Given the description of an element on the screen output the (x, y) to click on. 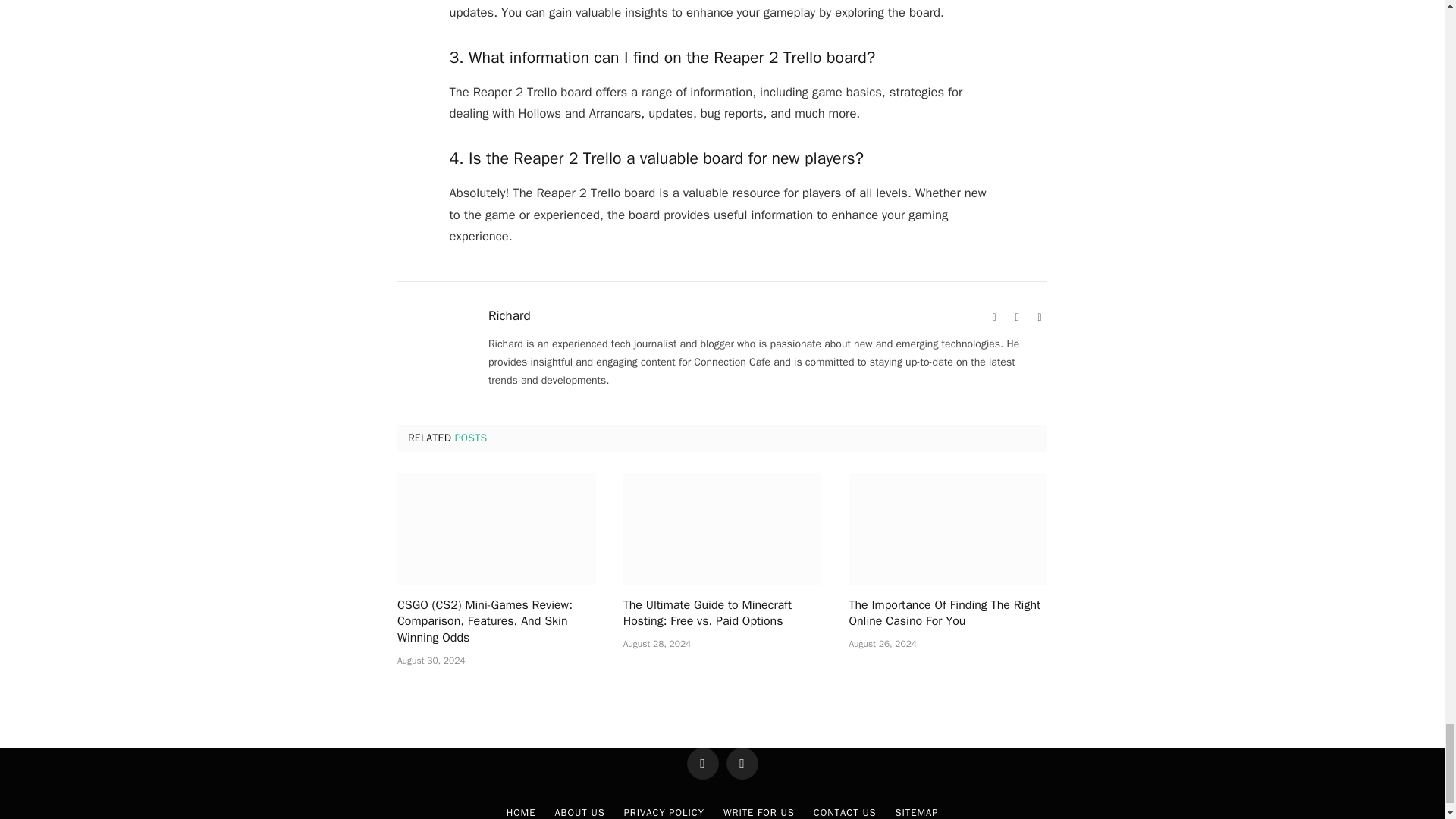
The Importance Of Finding The Right Online Casino For You (947, 528)
Twitter (1039, 317)
Posts by Richard (509, 315)
Website (994, 317)
Facebook (1017, 317)
